Given the description of an element on the screen output the (x, y) to click on. 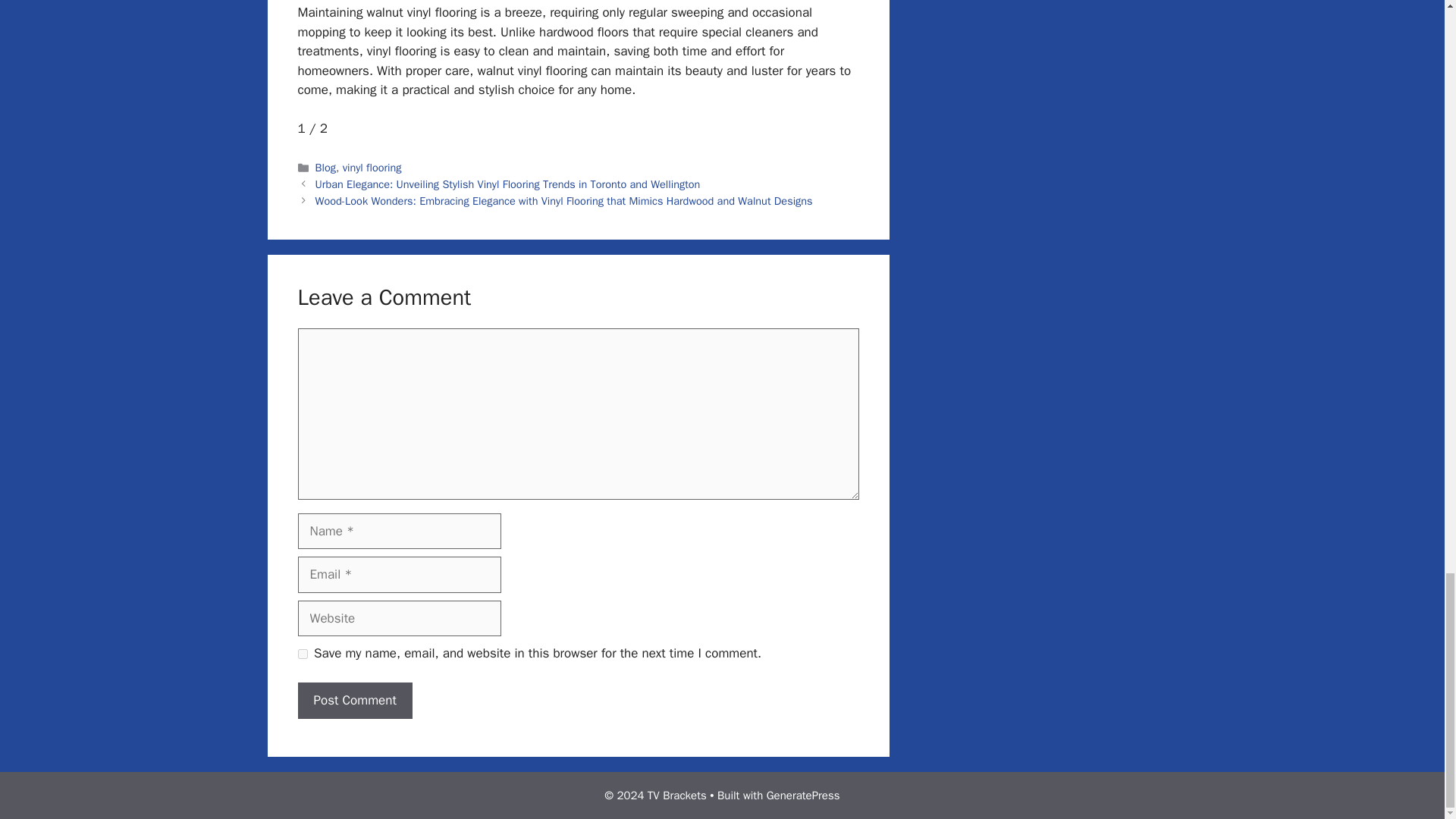
yes (302, 653)
vinyl flooring (371, 167)
Post Comment (354, 700)
Post Comment (354, 700)
GeneratePress (803, 795)
Blog (325, 167)
